Given the description of an element on the screen output the (x, y) to click on. 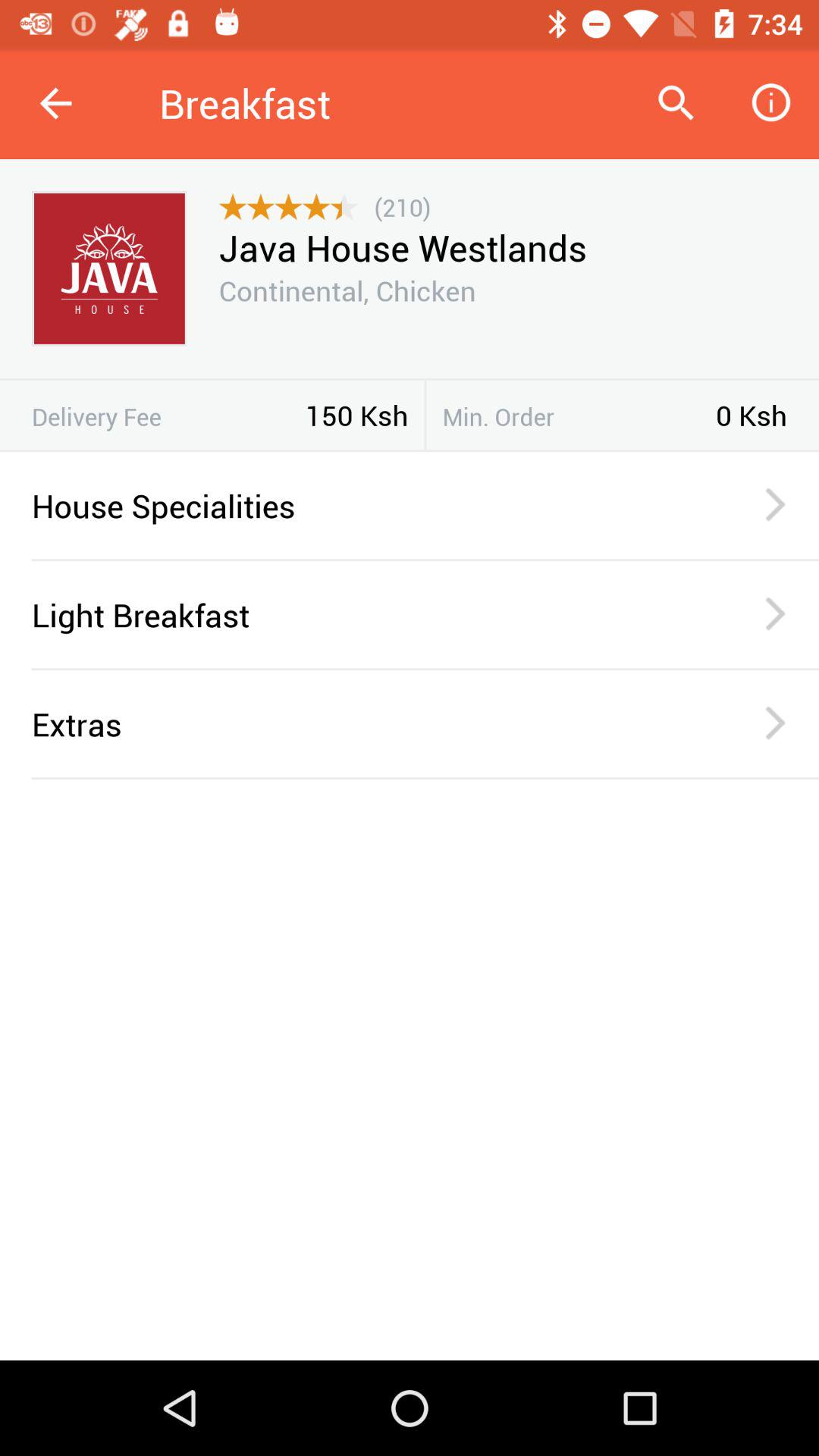
choose the icon to the left of the (210) icon (288, 207)
